Given the description of an element on the screen output the (x, y) to click on. 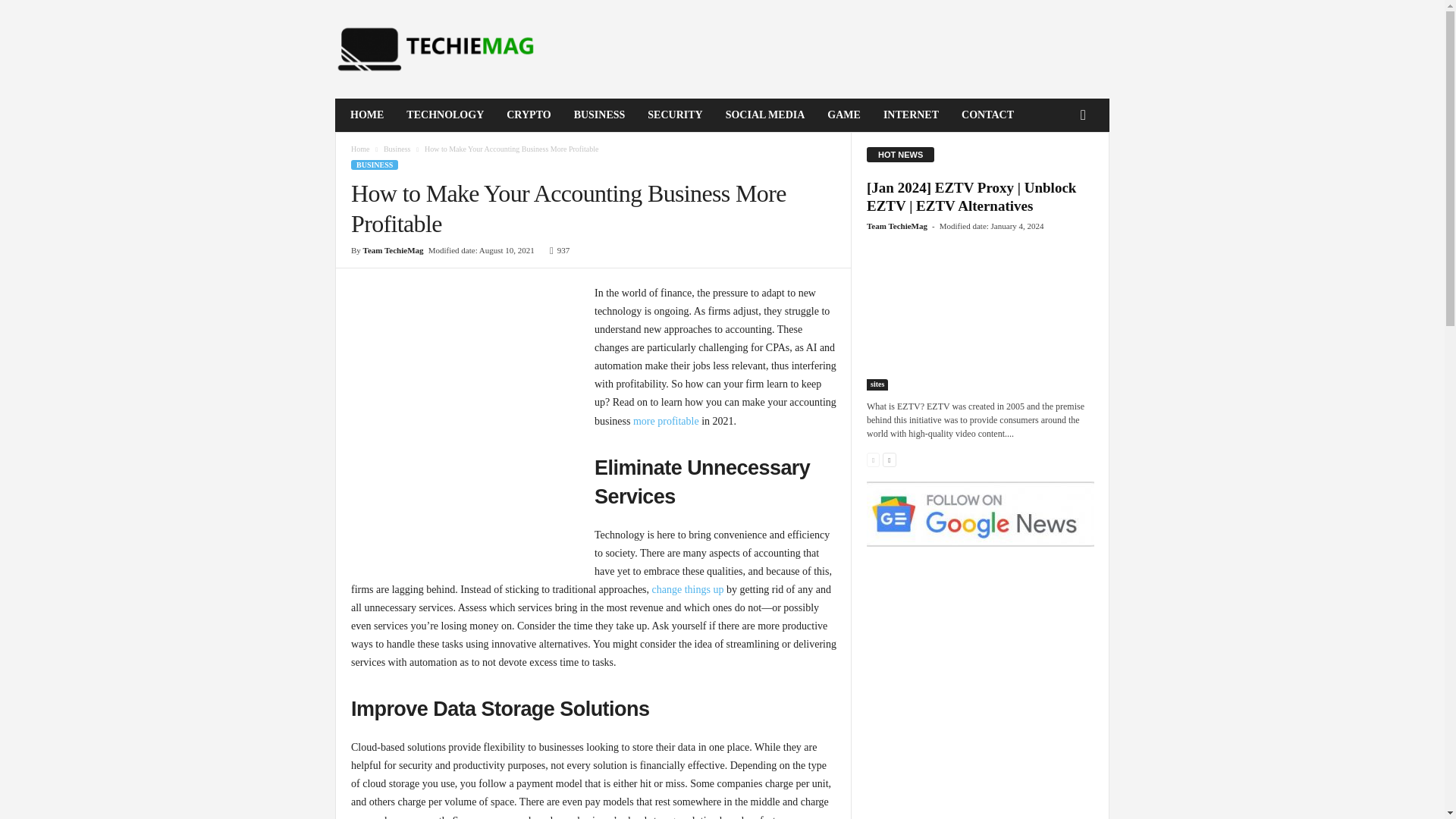
HOME (366, 114)
SECURITY (674, 114)
CRYPTO (528, 114)
CONTACT (987, 114)
TECHNOLOGY (444, 114)
BUSINESS (599, 114)
SOCIAL MEDIA (765, 114)
TechieMag (437, 48)
INTERNET (911, 114)
TechieMag (437, 48)
GAME (843, 114)
View all posts in Business (397, 148)
